Given the description of an element on the screen output the (x, y) to click on. 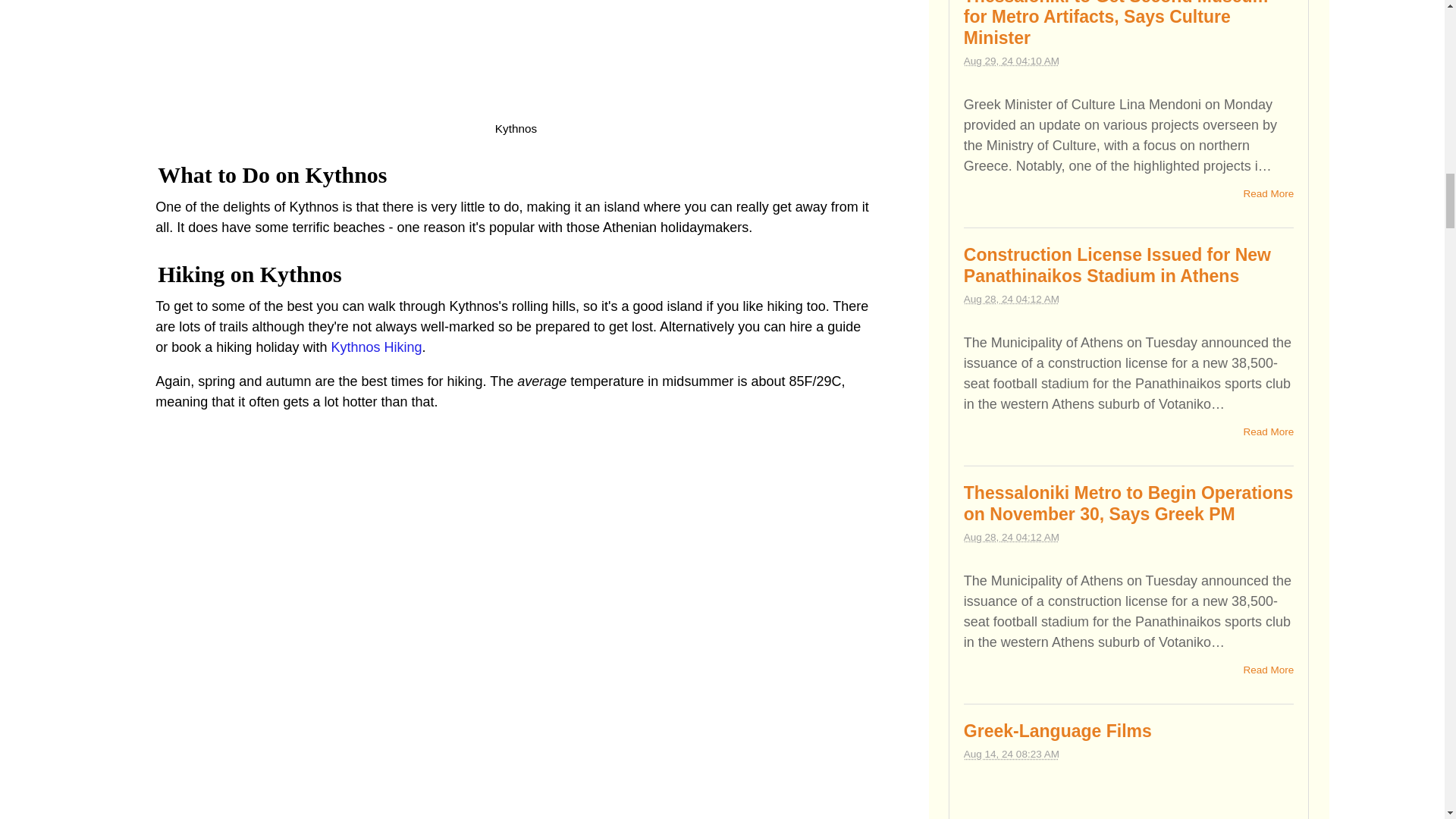
Kythnos in the Cyclades Islands of Greece (515, 57)
2024-08-28T04:12:59-0400 (1011, 298)
2024-08-14T08:23:19-0400 (1011, 754)
2024-08-28T04:12:59-0400 (1011, 536)
2024-08-29T04:10:57-0400 (1011, 60)
